Given the description of an element on the screen output the (x, y) to click on. 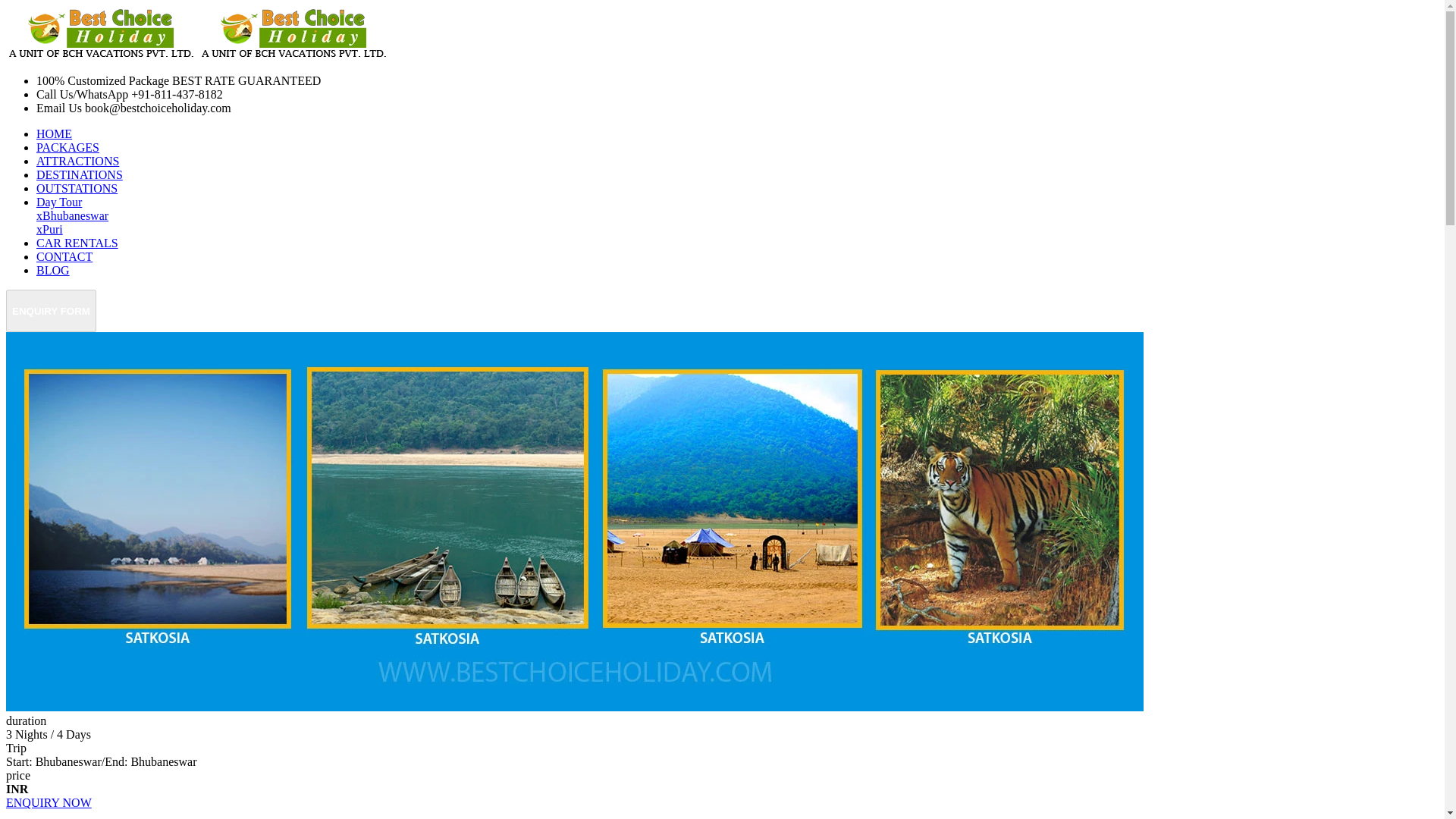
xPuri (49, 228)
ENQUIRY FORM (50, 310)
ENQUIRY FORM (50, 309)
xBhubaneswar (71, 215)
Day Tour (58, 201)
ENQUIRY NOW (48, 802)
